Given the description of an element on the screen output the (x, y) to click on. 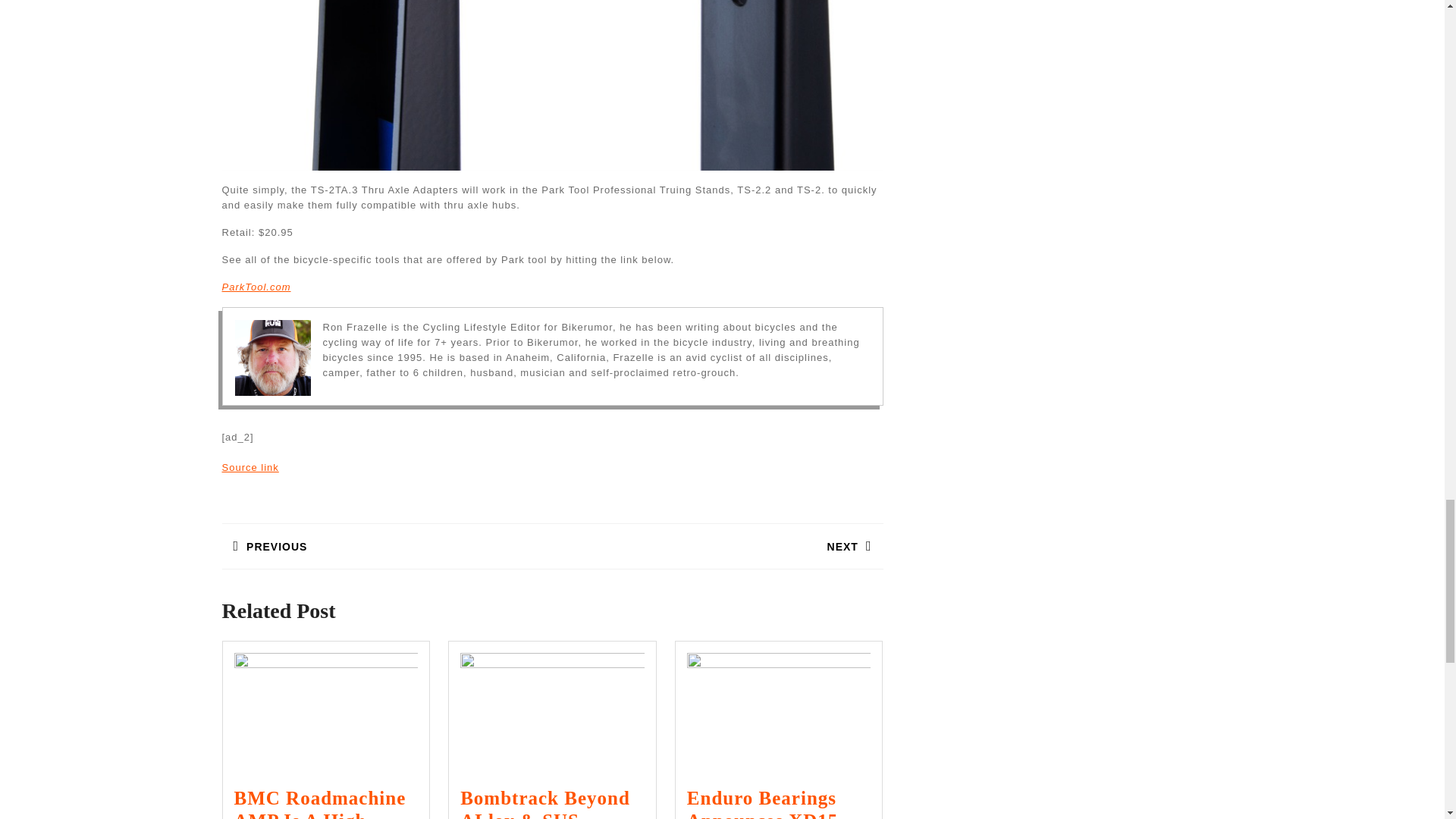
Source link (249, 467)
ParkTool.com (255, 286)
